Given the description of an element on the screen output the (x, y) to click on. 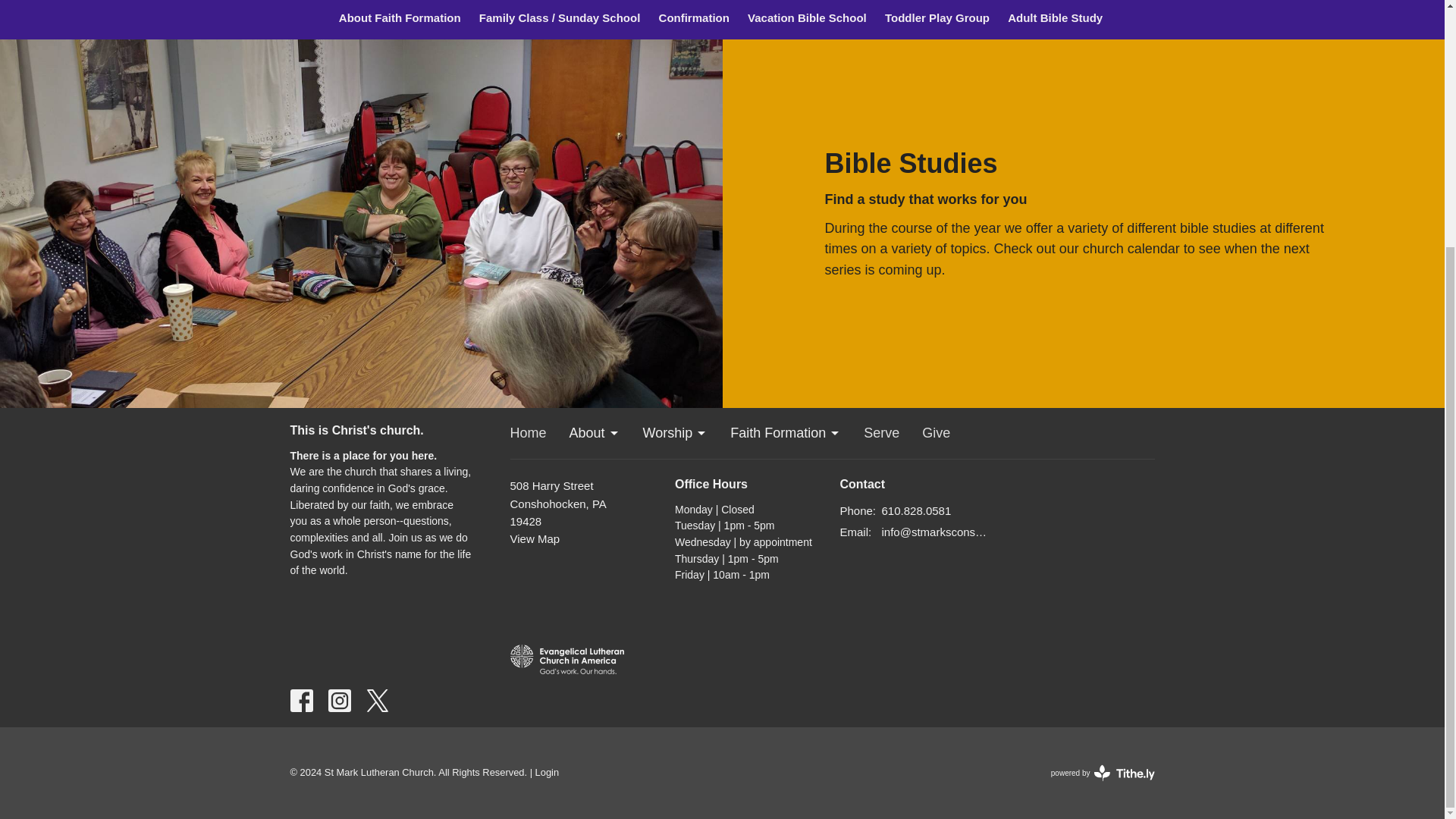
translation missing: en.ui.email (854, 531)
Confirmation (693, 19)
About Faith Formation (400, 19)
